Given the description of an element on the screen output the (x, y) to click on. 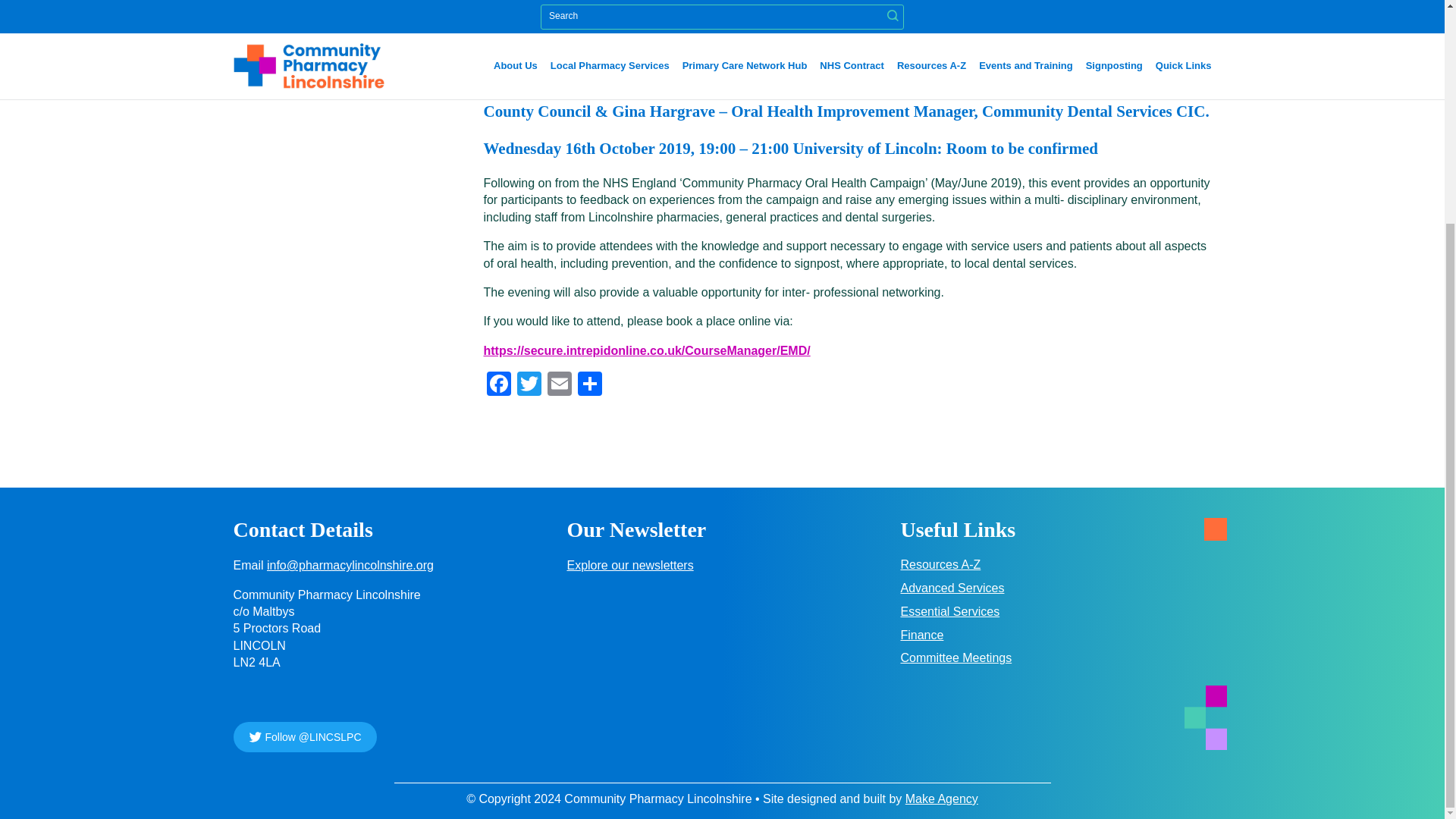
Twitter (528, 385)
Email (559, 385)
Facebook (498, 385)
